Given the description of an element on the screen output the (x, y) to click on. 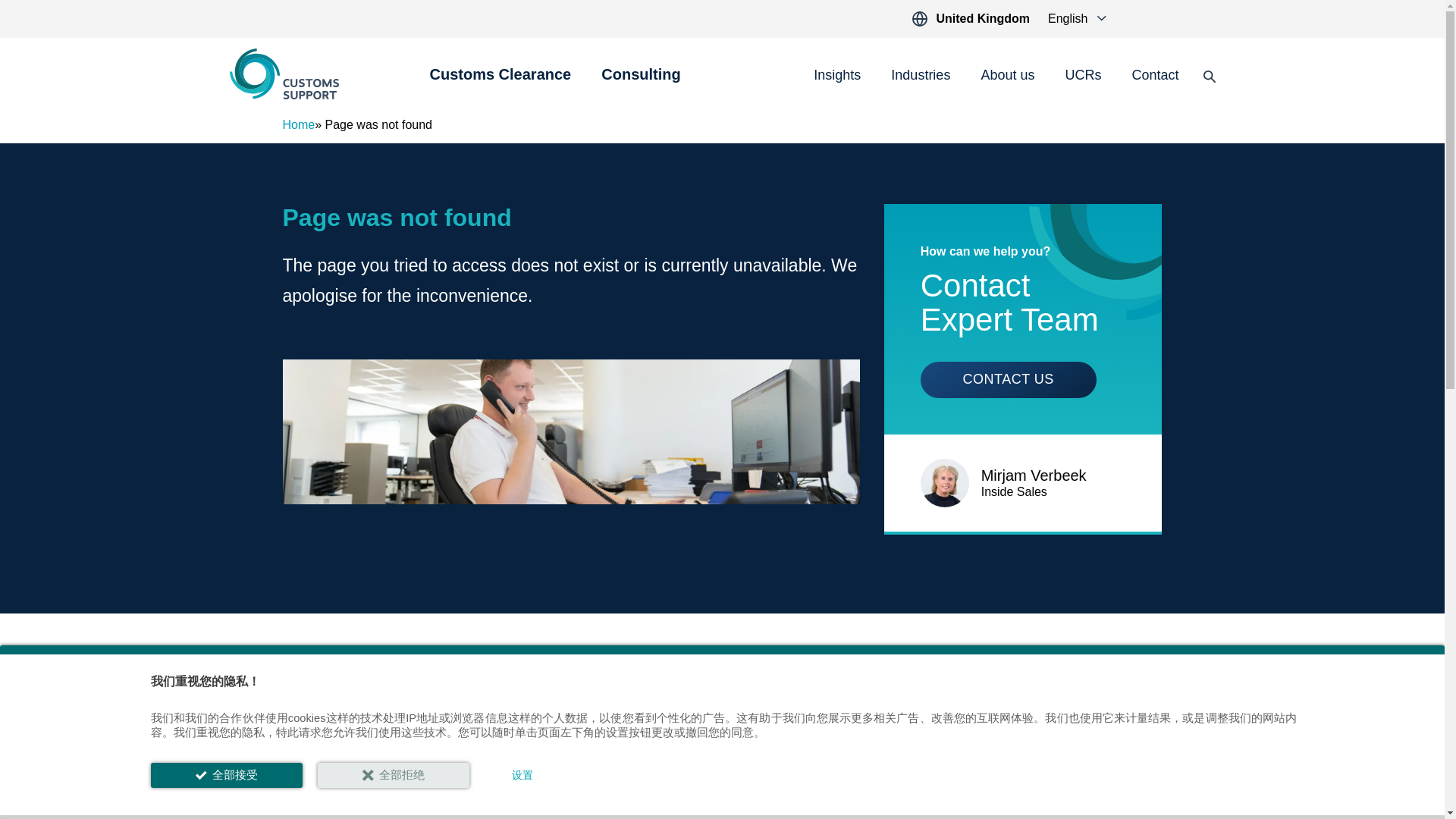
Consulting (640, 83)
Insights (836, 75)
Consulting services (640, 83)
Industries (920, 75)
Insights (836, 75)
Industries (920, 75)
Customs Clearance (499, 83)
Customs Clearance (499, 83)
